Given the description of an element on the screen output the (x, y) to click on. 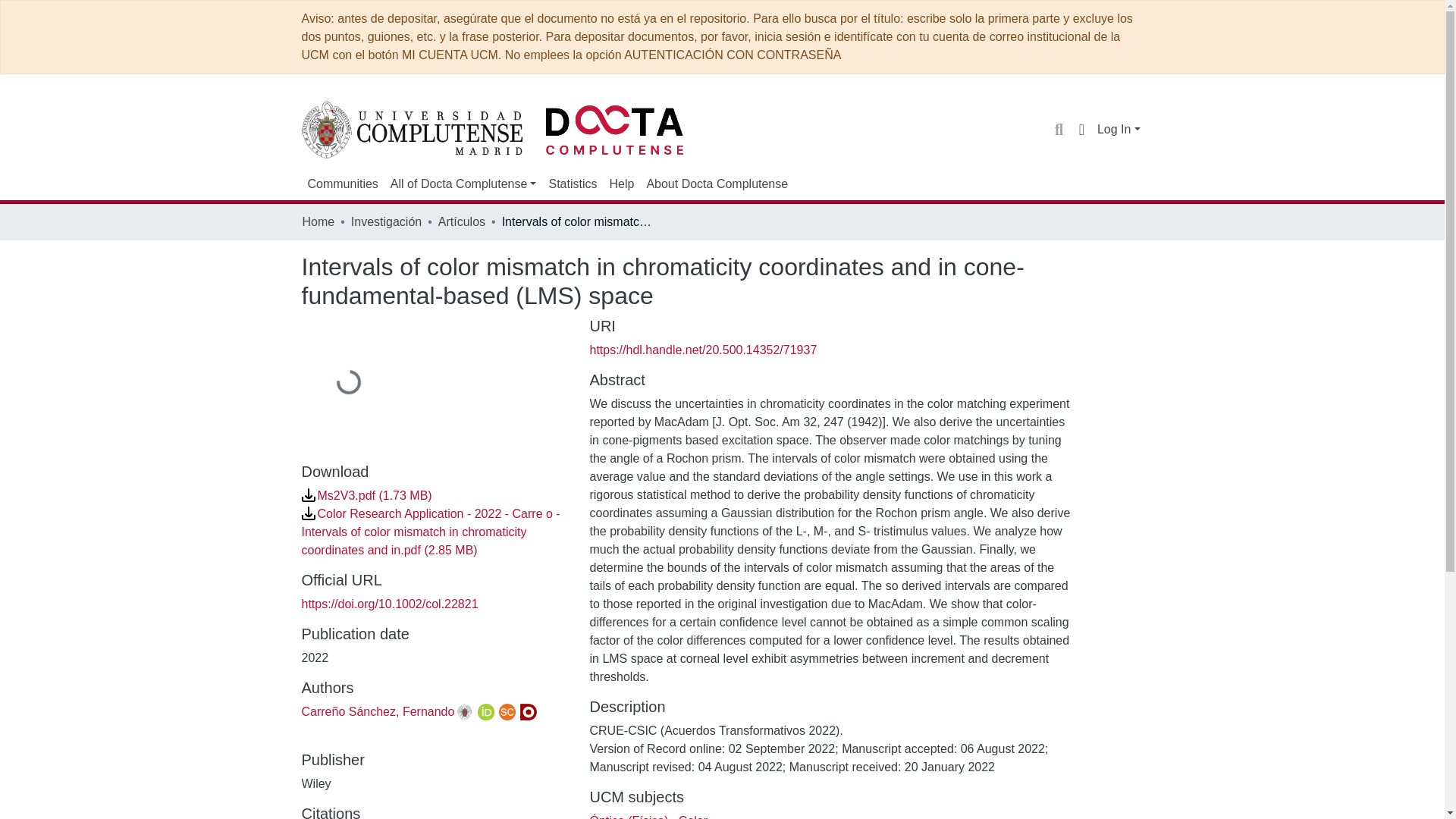
UCM identifier (465, 711)
downoloade (308, 513)
Statistics (571, 183)
Help (621, 183)
Help (621, 183)
Communities (342, 183)
Home (317, 221)
downoloade (308, 495)
Communities (342, 183)
Dialnet ID (528, 711)
Statistics (571, 183)
ORCID (486, 711)
All of Docta Complutense (463, 183)
Scopus Author ID (507, 711)
About Docta Complutense (716, 183)
